Given the description of an element on the screen output the (x, y) to click on. 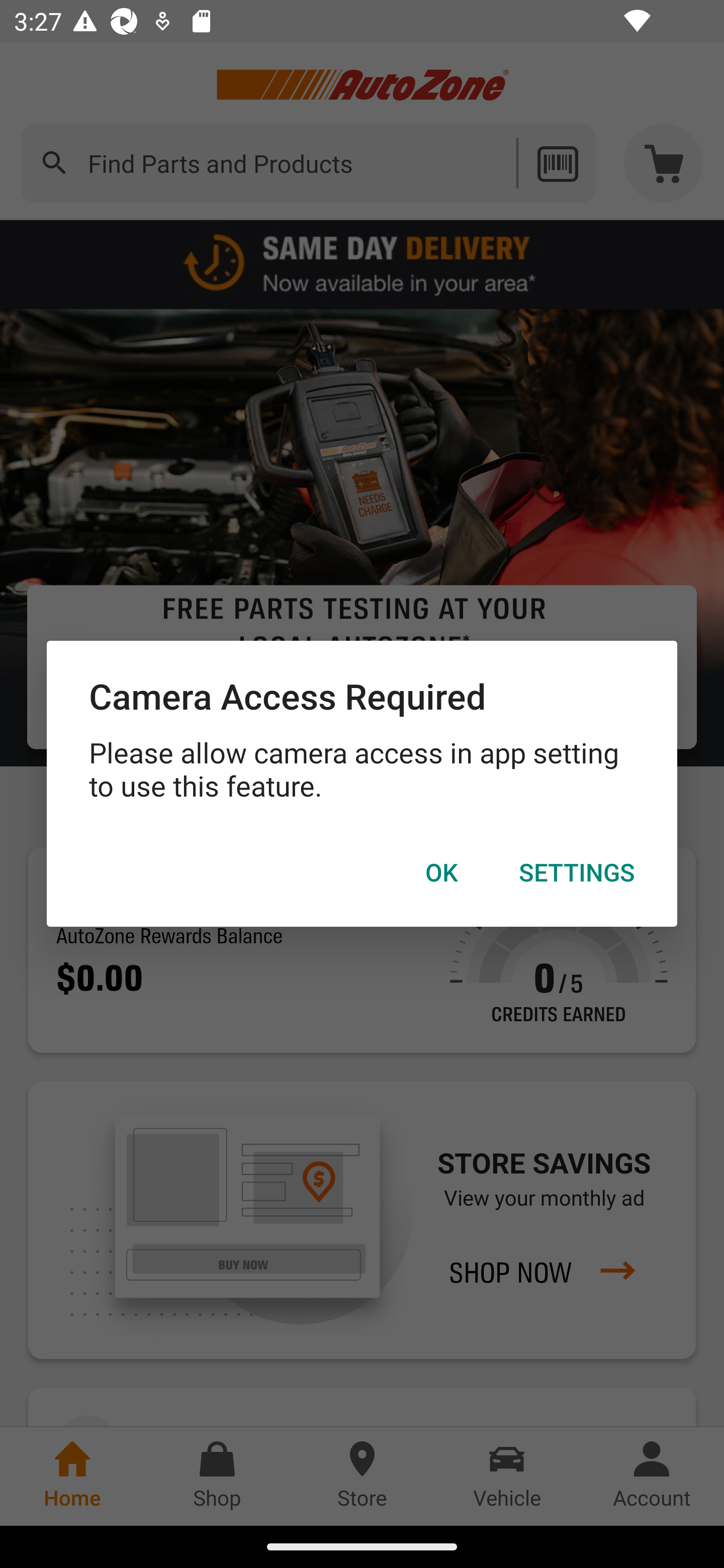
OK (441, 872)
SETTINGS (576, 872)
